Given the description of an element on the screen output the (x, y) to click on. 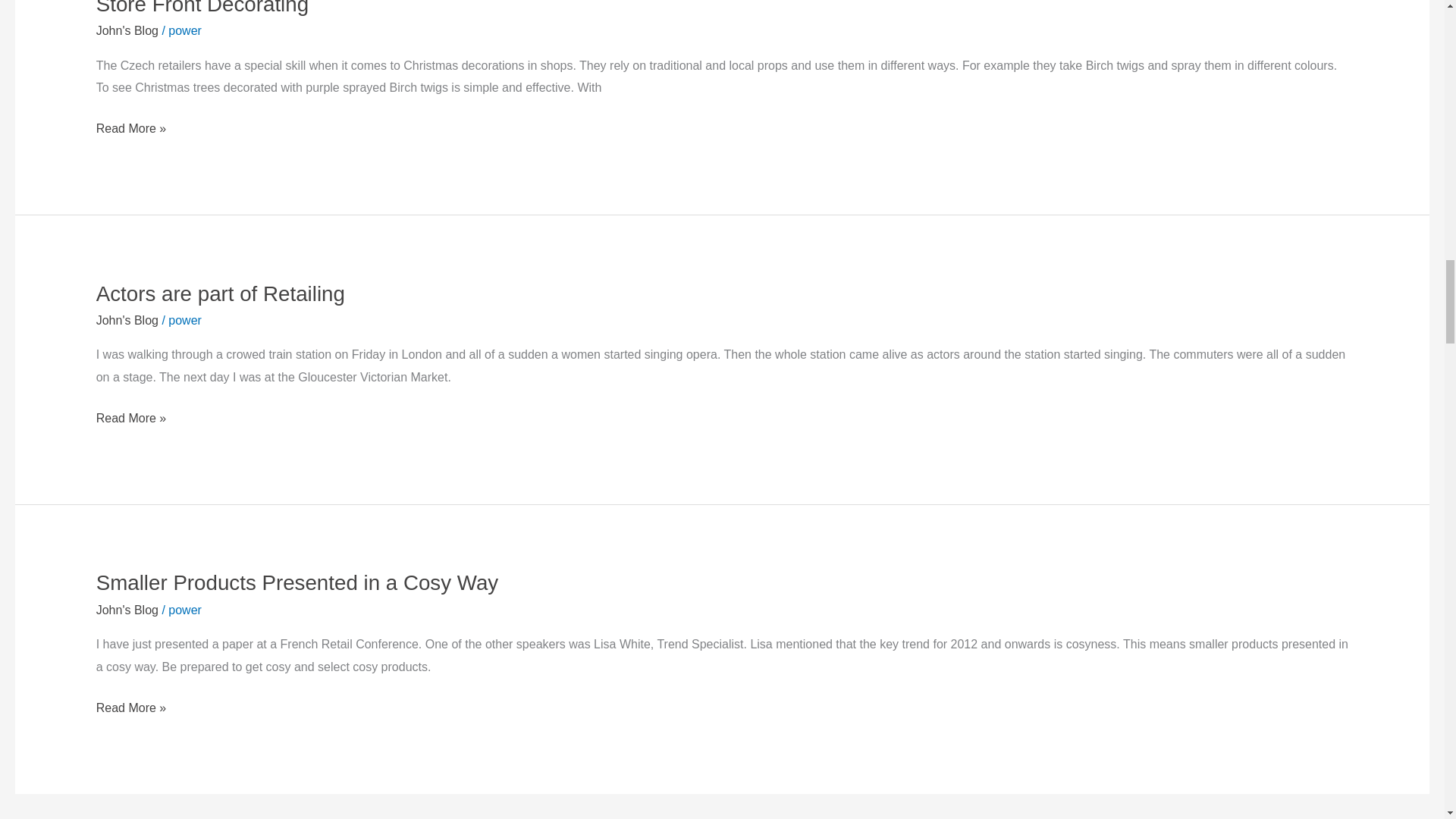
View all posts by power (185, 30)
View all posts by power (185, 609)
View all posts by power (185, 319)
